Given the description of an element on the screen output the (x, y) to click on. 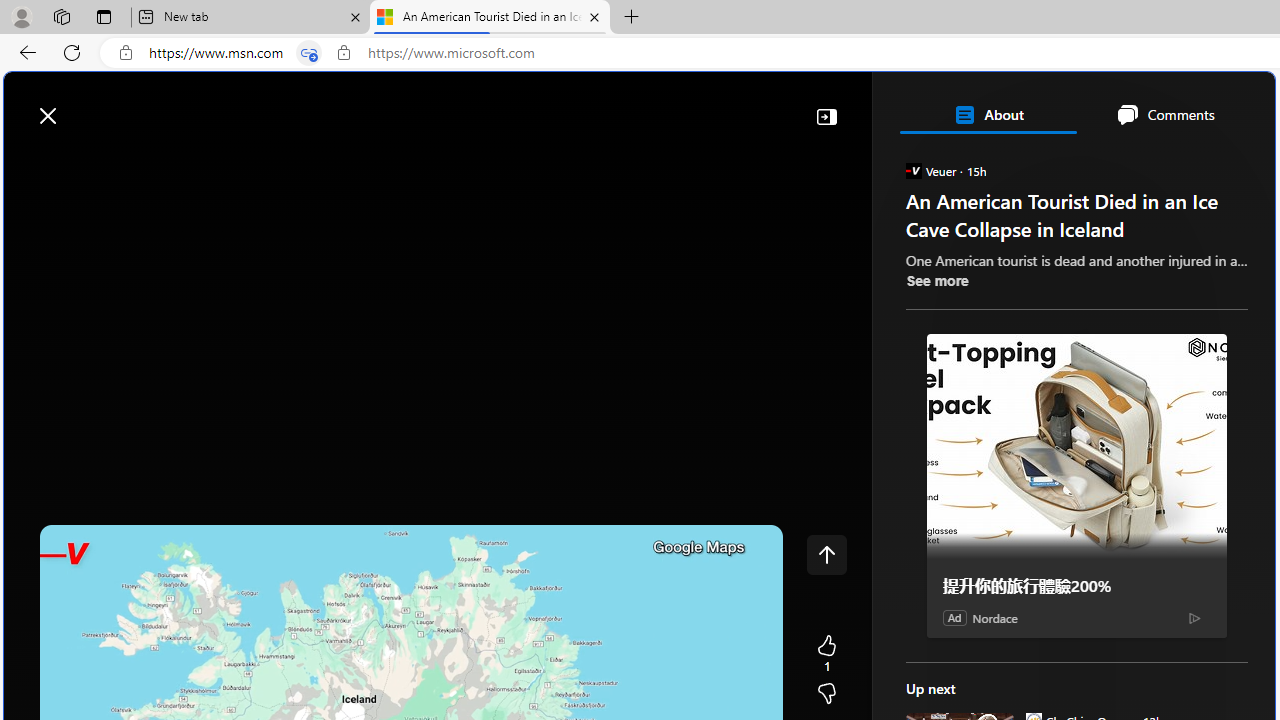
Class: control icon-only (826, 554)
About (987, 114)
ABC News (974, 557)
Class: button-glyph (29, 162)
